Given the description of an element on the screen output the (x, y) to click on. 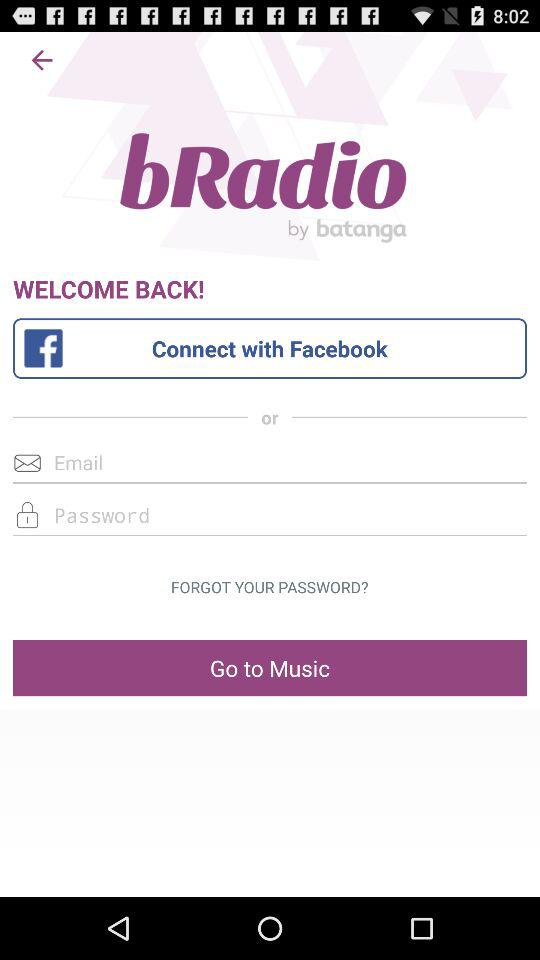
turn on item below forgot your password? icon (269, 667)
